Given the description of an element on the screen output the (x, y) to click on. 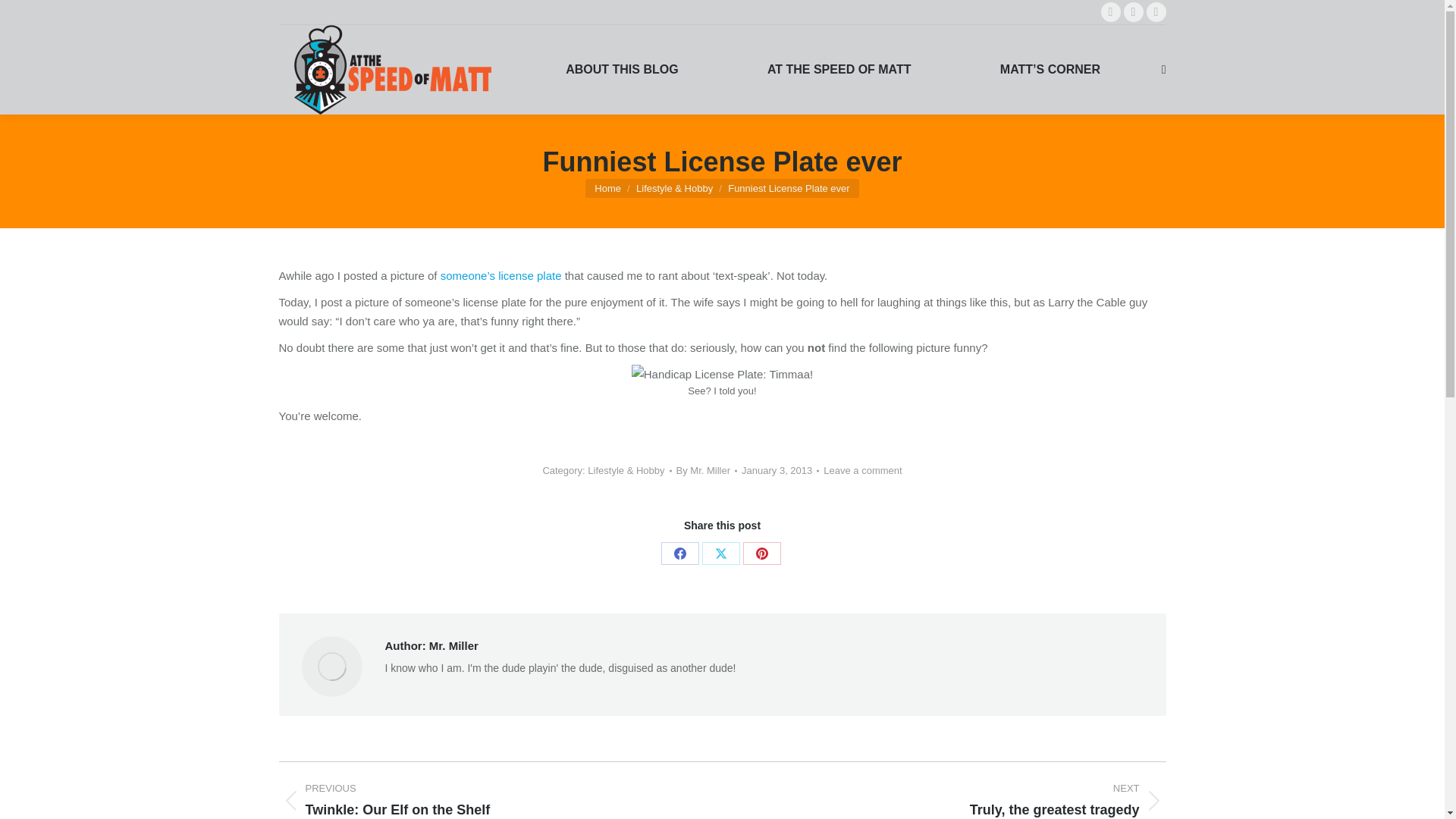
Home (607, 187)
X page opens in new window (1110, 12)
Subject to Change blog: text-speak (501, 275)
Share on Pinterest (761, 553)
AT THE SPEED OF MATT (839, 69)
Share on X (720, 553)
ABOUT THIS BLOG (621, 69)
Home (955, 800)
Mail page opens in new window (607, 187)
Instagram page opens in new window (1156, 12)
Leave a comment (1133, 12)
X page opens in new window (862, 470)
By Mr. Miller (1110, 12)
